Given the description of an element on the screen output the (x, y) to click on. 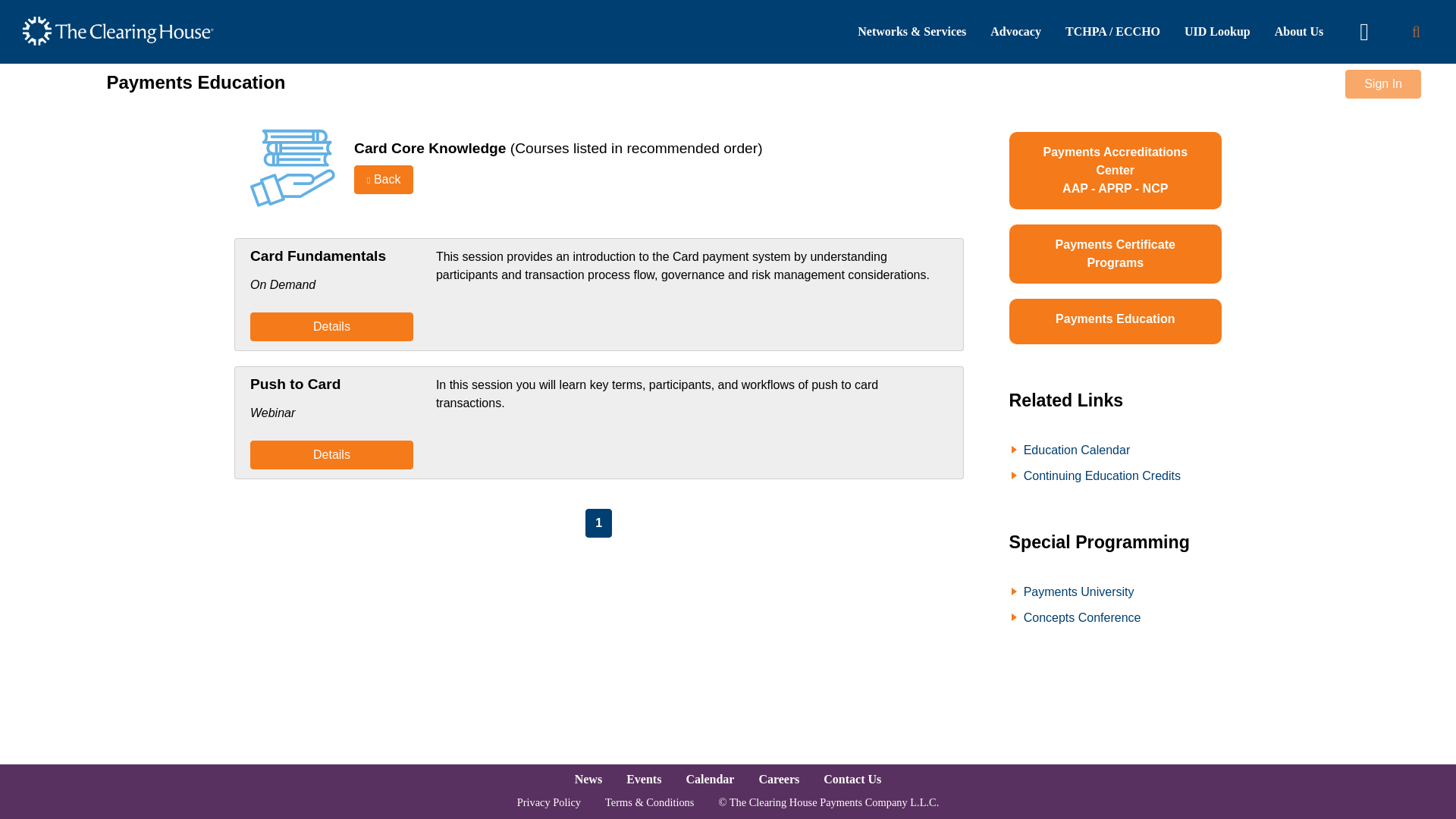
Search button (1415, 31)
Advocacy (1015, 31)
Skip to Main Content (727, 9)
Skip to Main Content (727, 9)
